Given the description of an element on the screen output the (x, y) to click on. 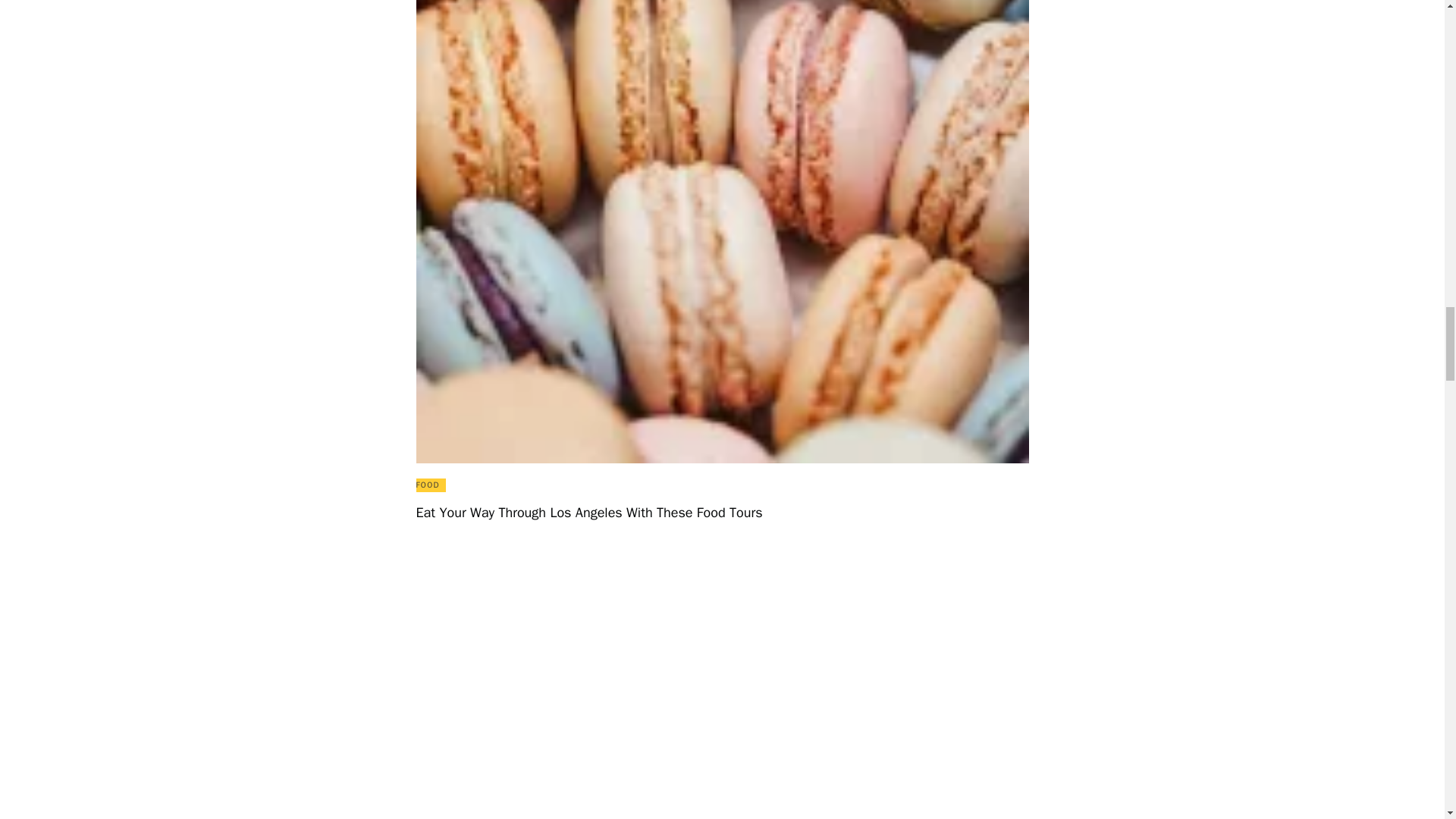
Eat Your Way Through Los Angeles With These Food Tours (720, 512)
FOOD (426, 483)
